Given the description of an element on the screen output the (x, y) to click on. 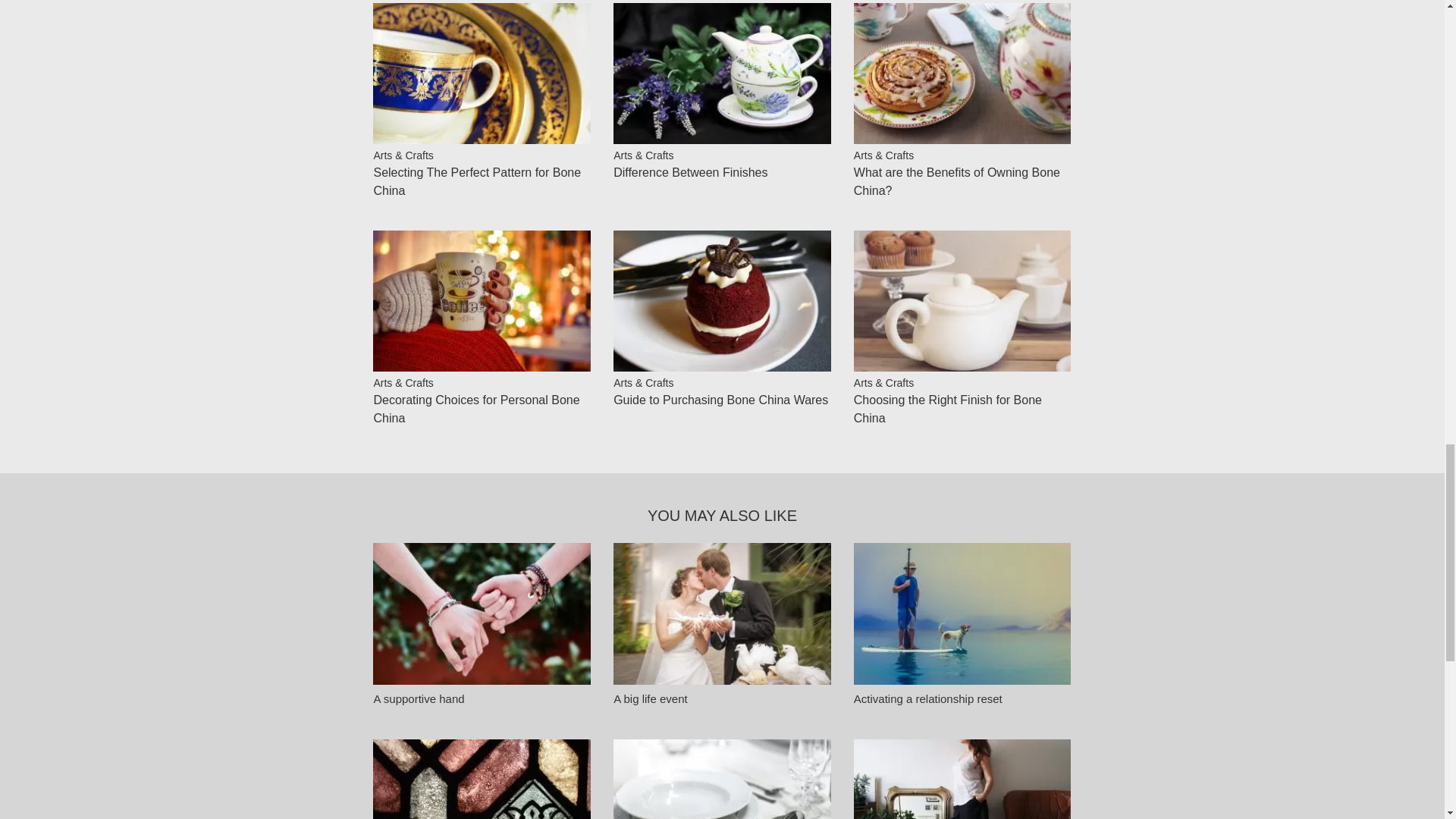
Selecting The Perfect Pattern for Bone China (476, 181)
What are the Benefits of Owning Bone China? (956, 181)
A big life event (649, 698)
Activating a relationship reset (928, 698)
A supportive hand (418, 698)
Difference Between Finishes (689, 172)
Decorating Choices for Personal Bone China (475, 409)
Guide to Purchasing Bone China Wares (720, 399)
Choosing the Right Finish for Bone China (947, 409)
